Given the description of an element on the screen output the (x, y) to click on. 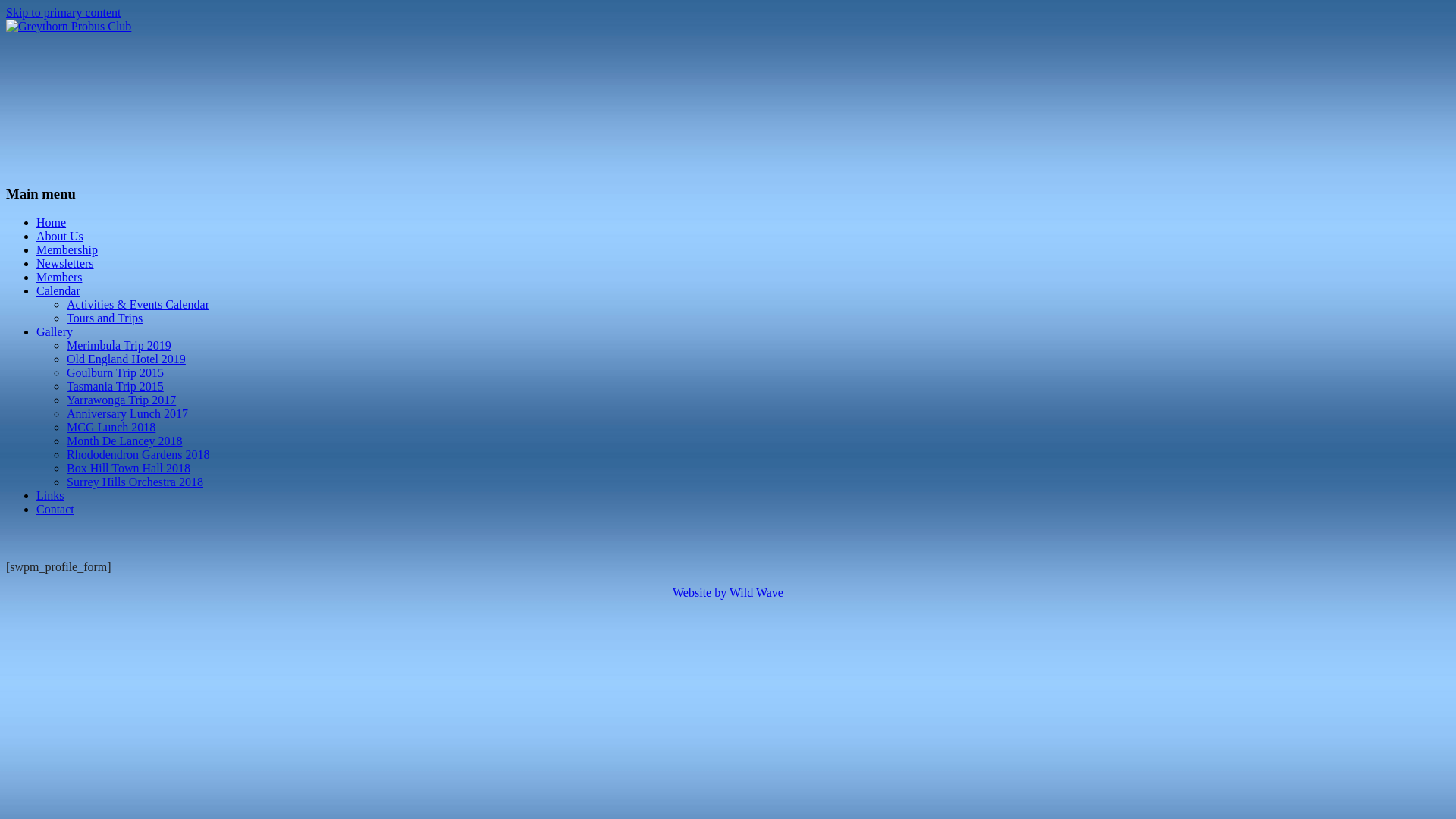
Surrey Hills Orchestra 2018 Element type: text (134, 481)
Newsletters Element type: text (65, 263)
Yarrawonga Trip 2017 Element type: text (120, 399)
Old England Hotel 2019 Element type: text (125, 358)
Skip to primary content Element type: text (63, 12)
Home Element type: text (50, 222)
Box Hill Town Hall 2018 Element type: text (128, 467)
Tasmania Trip 2015 Element type: text (114, 385)
Tours and Trips Element type: text (104, 317)
Links Element type: text (49, 495)
Activities & Events Calendar Element type: text (137, 304)
Merimbula Trip 2019 Element type: text (118, 344)
Gallery Element type: text (54, 331)
Anniversary Lunch 2017 Element type: text (127, 413)
MCG Lunch 2018 Element type: text (110, 426)
Contact Element type: text (55, 508)
Calendar Element type: text (58, 290)
Members Element type: text (58, 276)
Rhododendron Gardens 2018 Element type: text (137, 454)
Month De Lancey 2018 Element type: text (124, 440)
Website by Wild Wave Element type: text (727, 592)
Membership Element type: text (66, 249)
Goulburn Trip 2015 Element type: text (114, 372)
About Us Element type: text (59, 235)
